Given the description of an element on the screen output the (x, y) to click on. 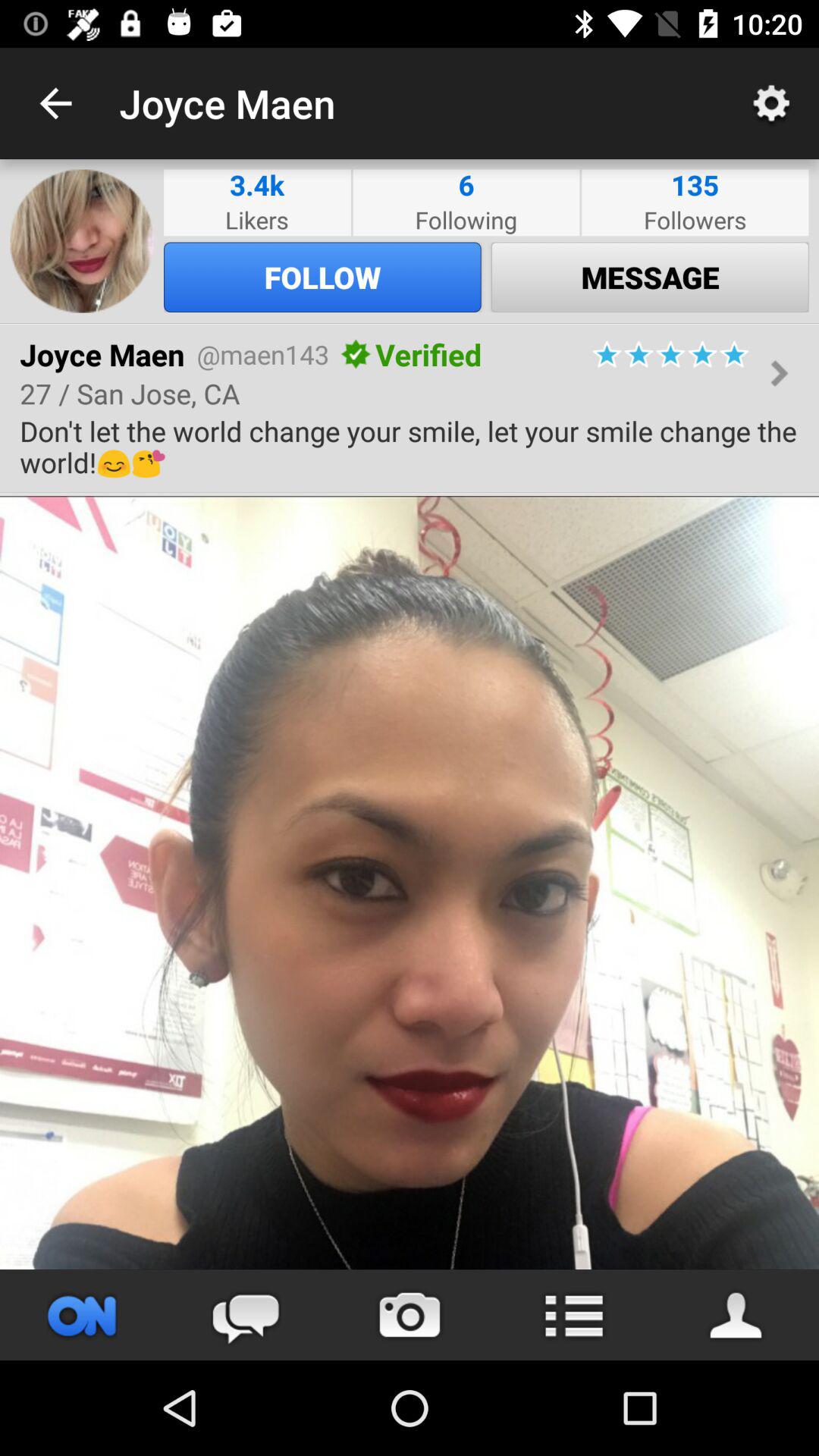
take picture (409, 1315)
